Given the description of an element on the screen output the (x, y) to click on. 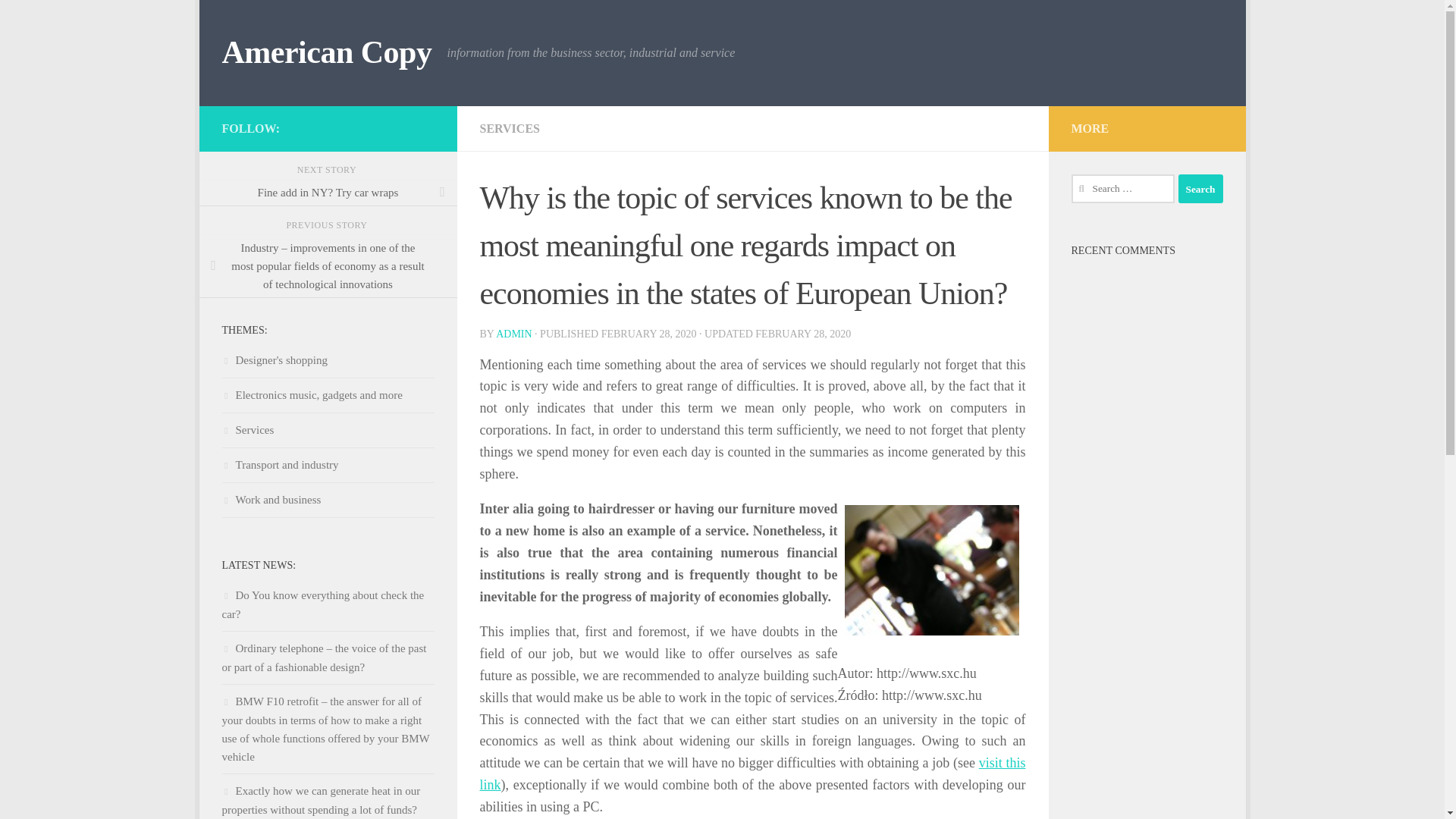
Do You know everything about check the car? (322, 603)
Services (247, 429)
Search (1200, 188)
Designer's shopping (273, 359)
Search (1200, 188)
ADMIN (513, 333)
Electronics music, gadgets and more (311, 395)
Posts by admin (513, 333)
waiter (931, 570)
